Given the description of an element on the screen output the (x, y) to click on. 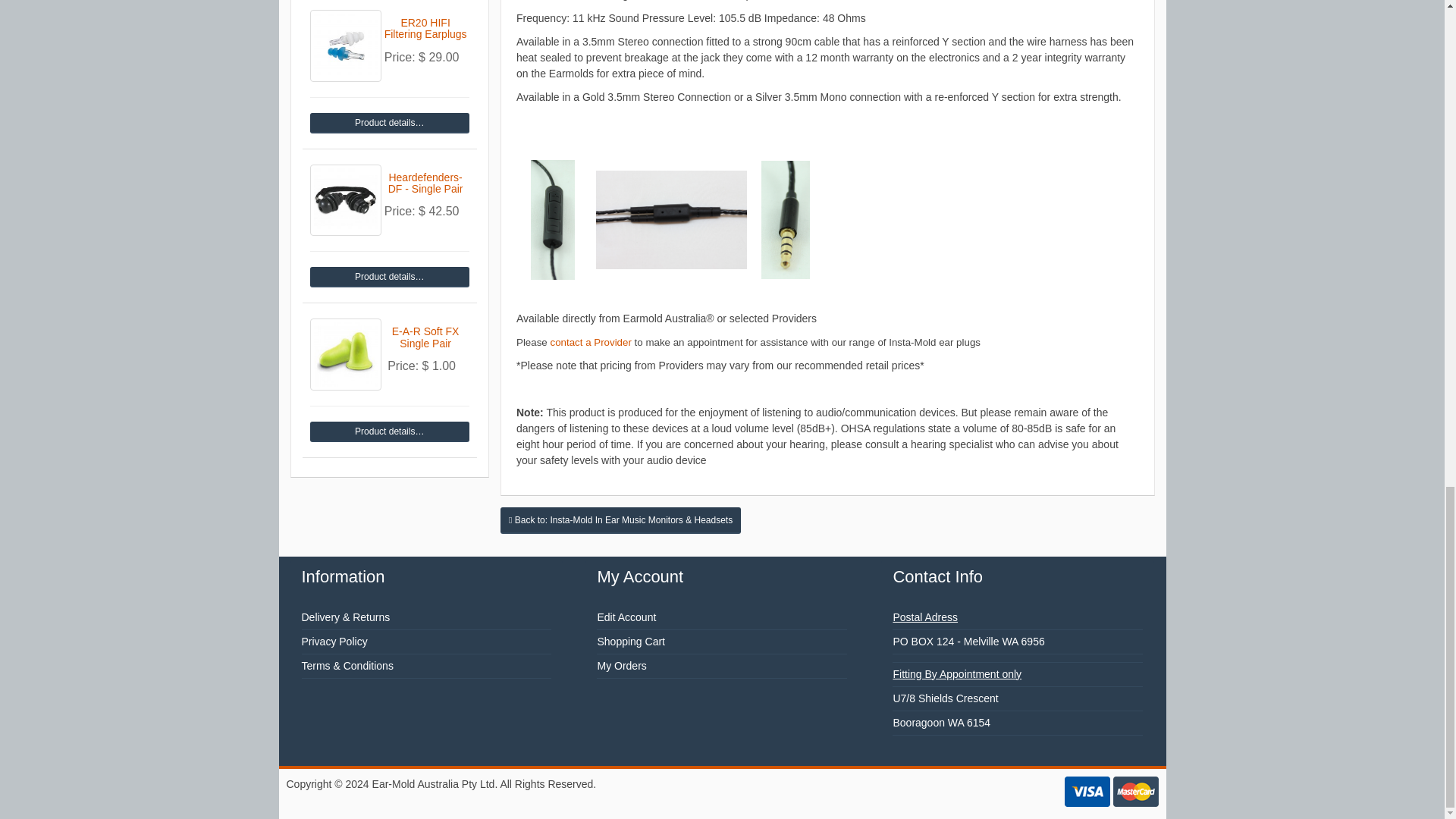
Heardefenders-DF - Single Pair (388, 276)
E-A-R Soft FX Single Pair (344, 354)
ER20 HIFI Filtering Earplugs (388, 123)
E-A-R Soft FX Single Pair (388, 431)
Heardefenders-DF - Single Pair (344, 200)
ER20 HIFI Filtering Earplugs (344, 45)
